Given the description of an element on the screen output the (x, y) to click on. 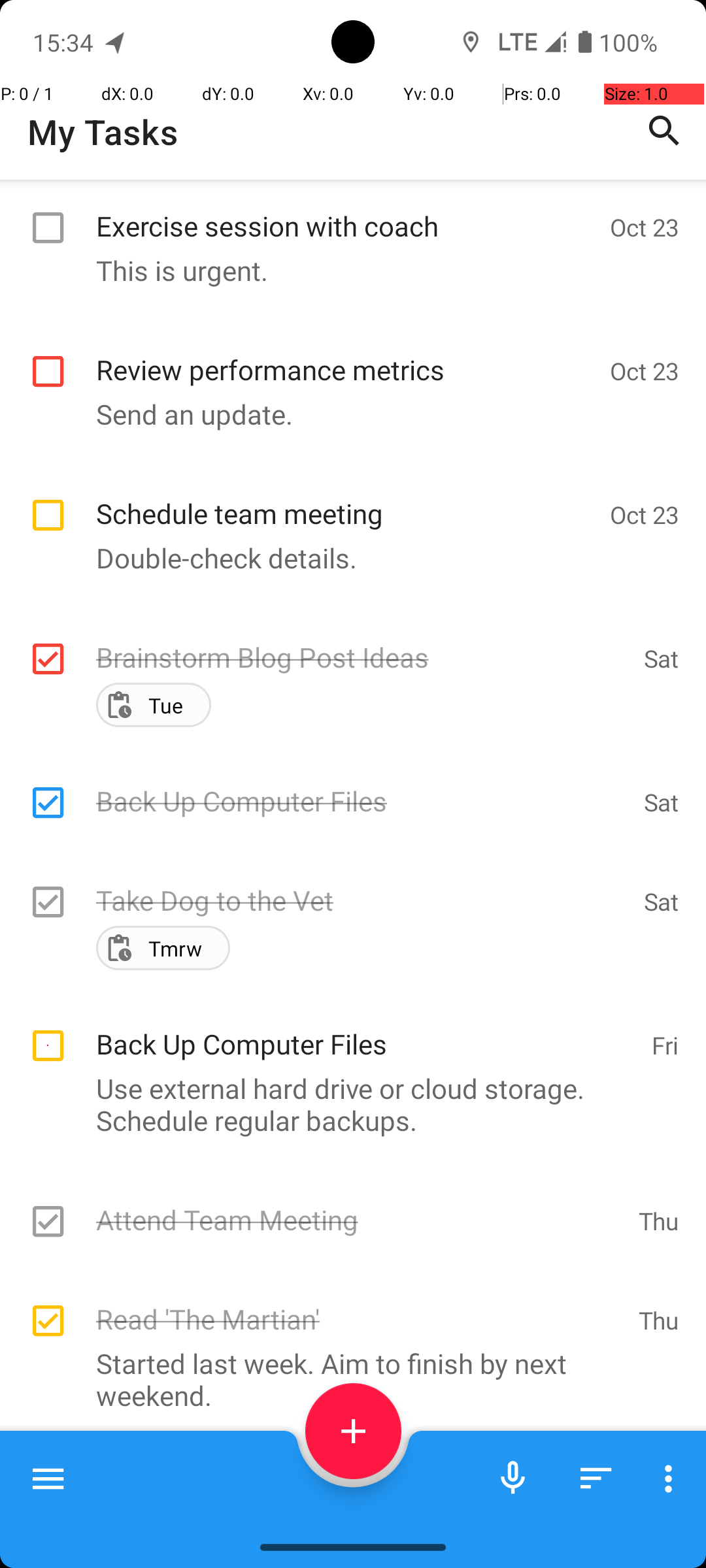
Exercise session with coach Element type: android.widget.TextView (346, 211)
This is urgent. Element type: android.widget.TextView (346, 269)
Oct 23 Element type: android.widget.TextView (644, 226)
Review performance metrics Element type: android.widget.TextView (346, 355)
Send an update. Element type: android.widget.TextView (346, 413)
Schedule team meeting Element type: android.widget.TextView (346, 499)
Double-check details. Element type: android.widget.TextView (346, 557)
Use external hard drive or cloud storage. Schedule regular backups. Element type: android.widget.TextView (346, 1103)
